Given the description of an element on the screen output the (x, y) to click on. 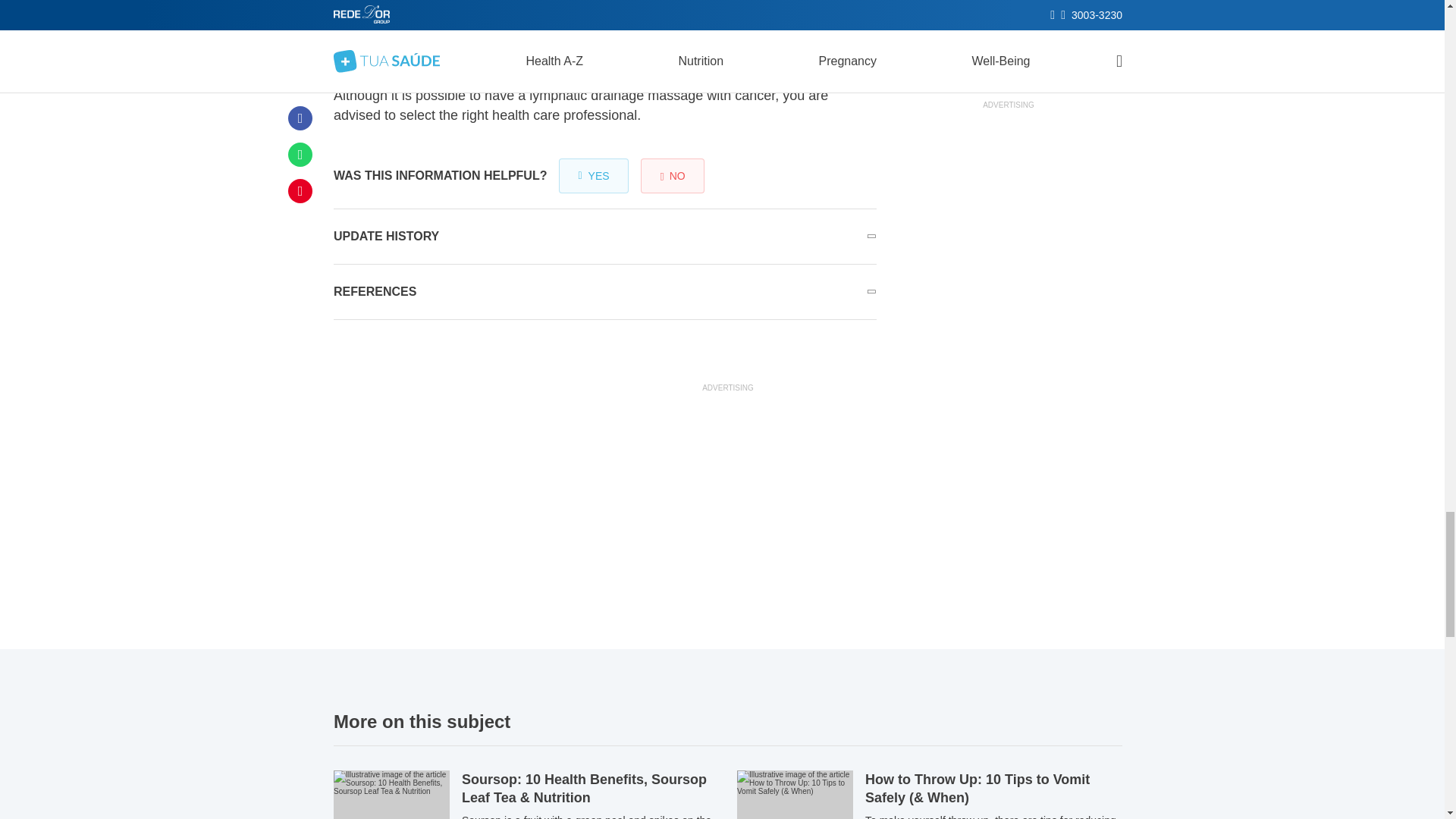
YES (593, 175)
NO (672, 175)
